Given the description of an element on the screen output the (x, y) to click on. 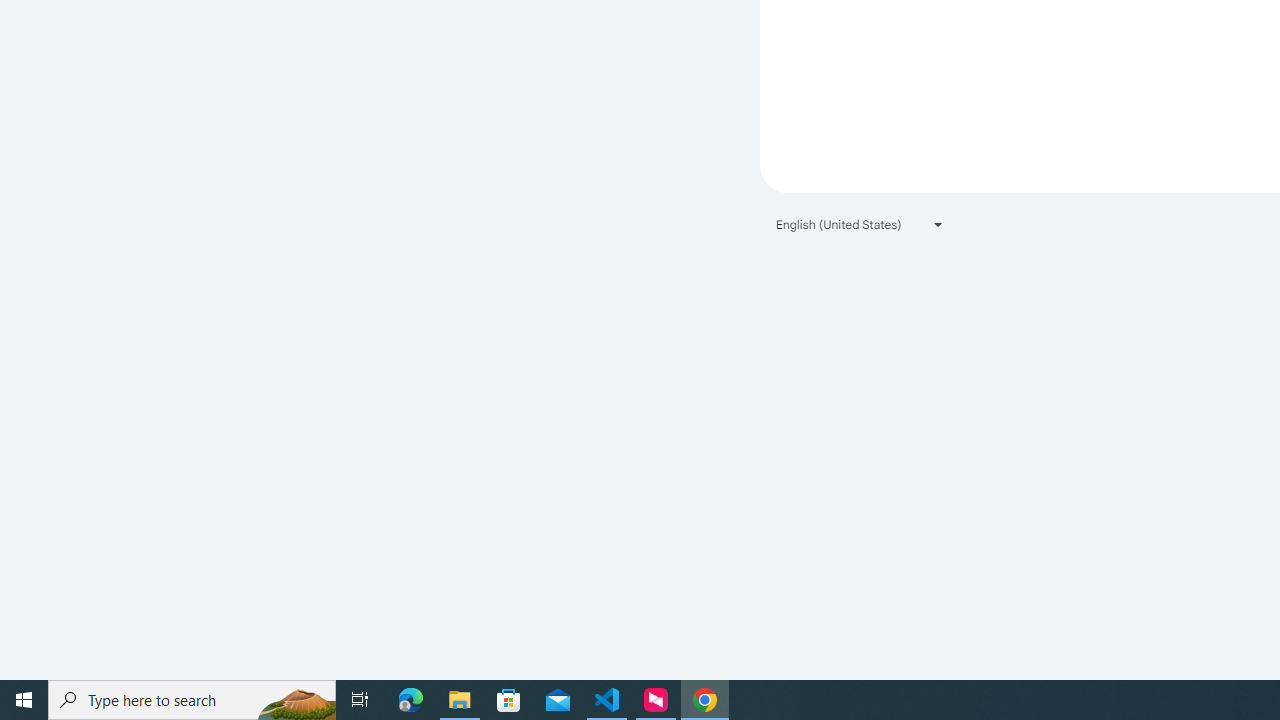
English (United States) (860, 224)
